Given the description of an element on the screen output the (x, y) to click on. 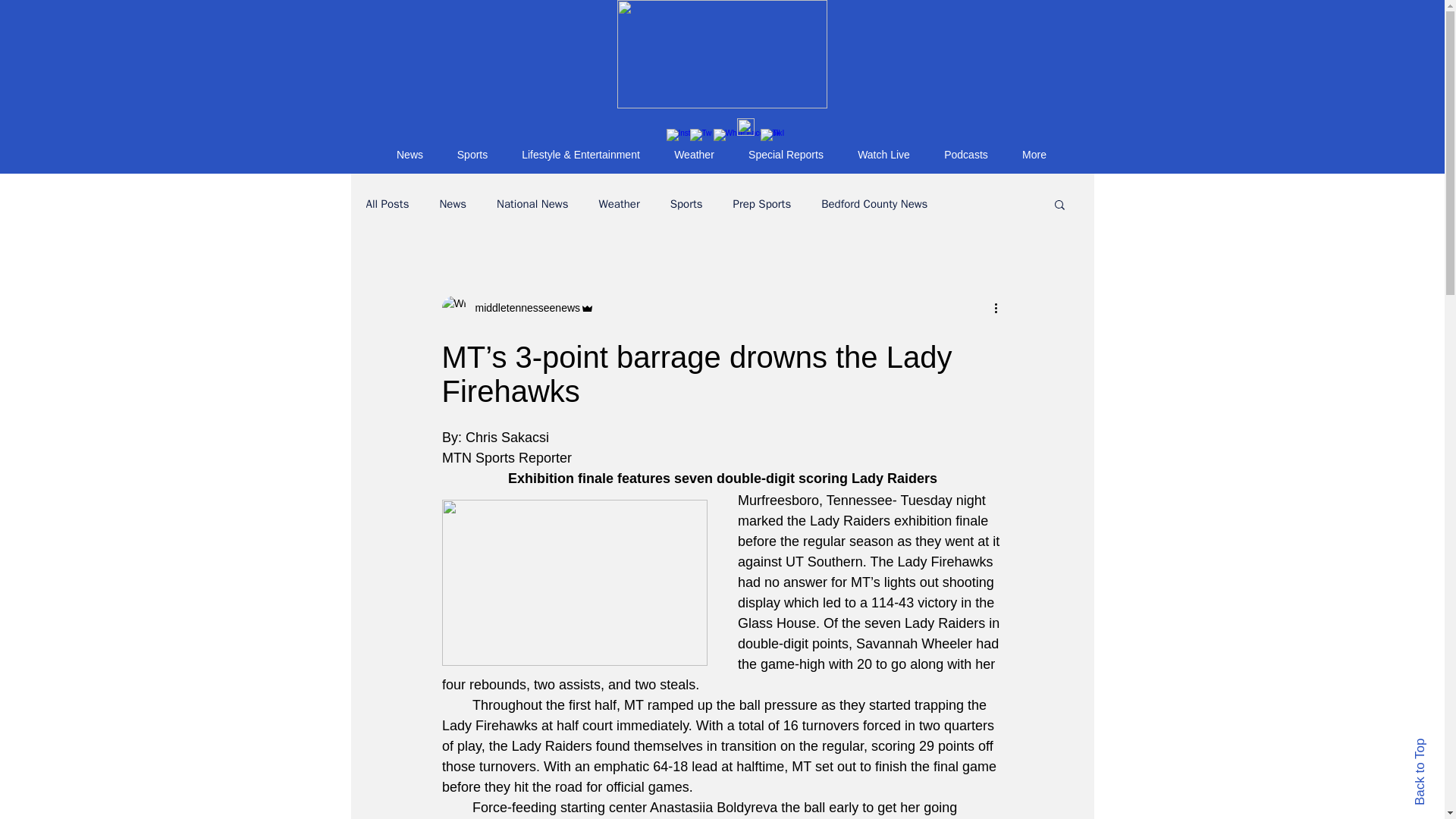
Podcasts (965, 154)
Weather (693, 154)
Sports (471, 154)
Watch Live (883, 154)
News (408, 154)
Special Reports (785, 154)
middletennesseenews (522, 308)
